Given the description of an element on the screen output the (x, y) to click on. 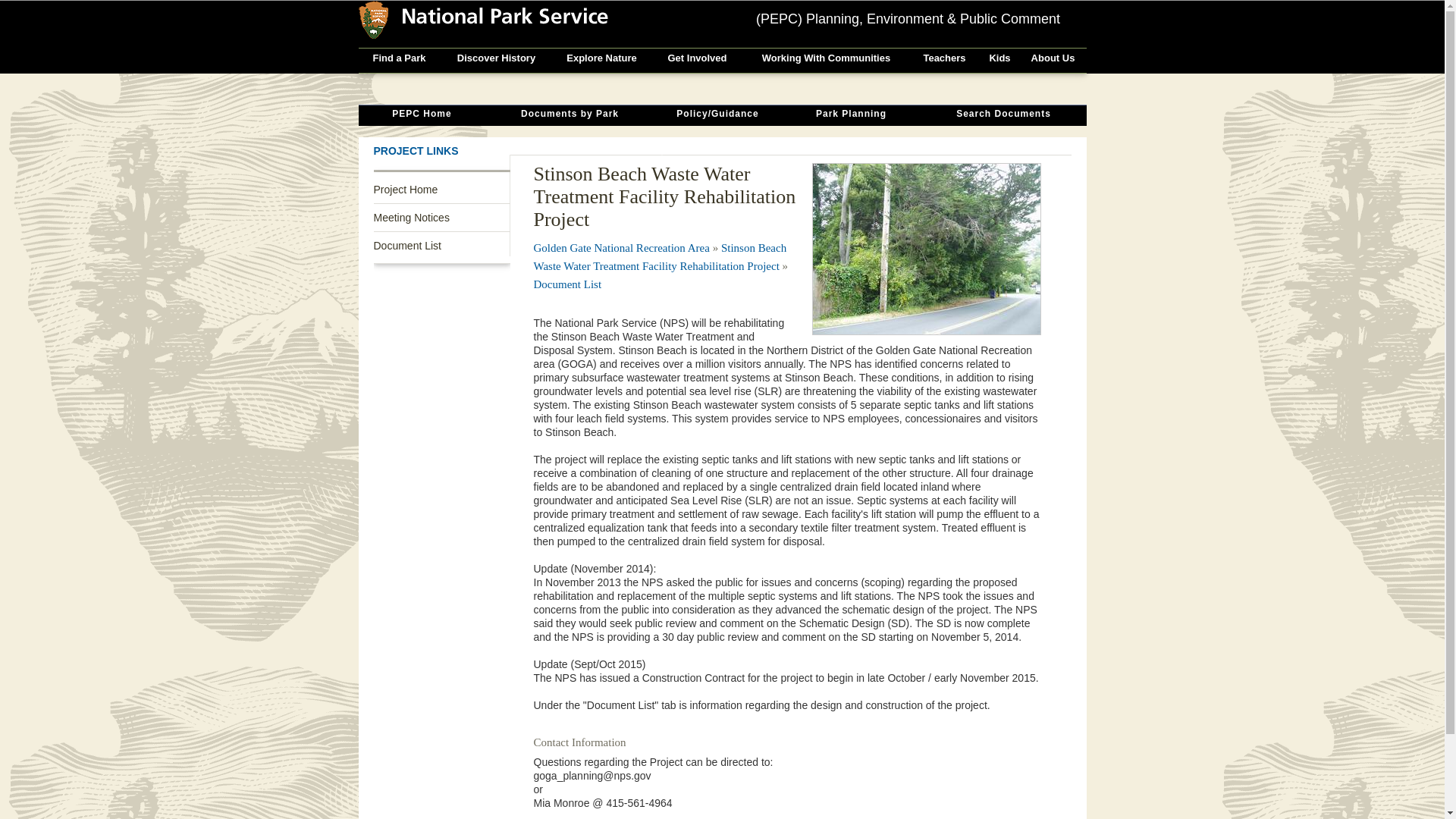
Kids (999, 60)
Document List (568, 284)
Working With Communities (825, 60)
About Us (1052, 60)
All projects with documents posted for review (421, 115)
PEPC Home (421, 115)
Documents by Park (569, 115)
Park Planning (850, 115)
Find projects by park  (569, 115)
Policy and guidance links (716, 115)
Document List (568, 284)
Explore Nature (600, 60)
Document List (440, 245)
Project Home (440, 189)
